Given the description of an element on the screen output the (x, y) to click on. 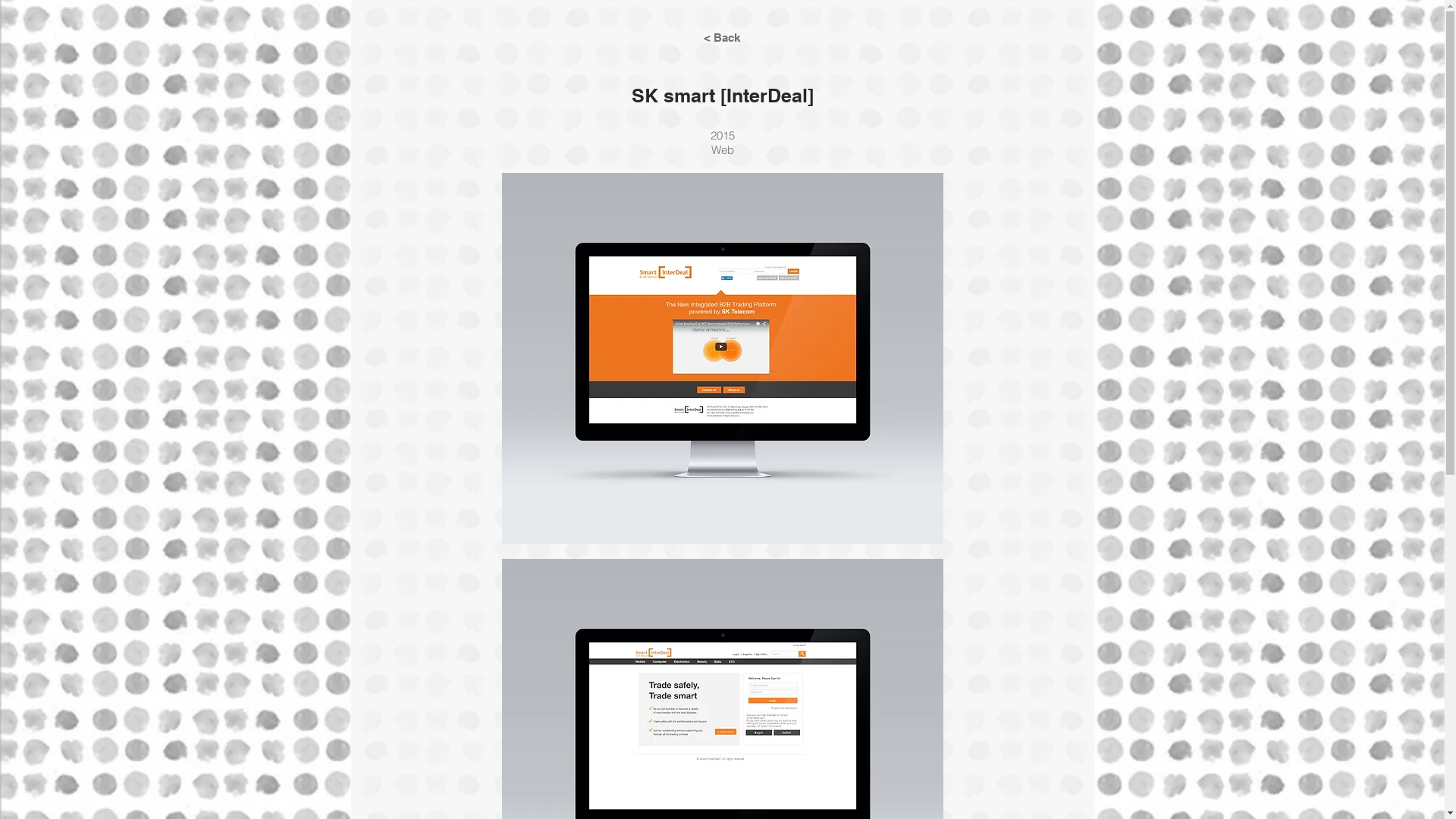
< Back Element type: text (721, 36)
